Given the description of an element on the screen output the (x, y) to click on. 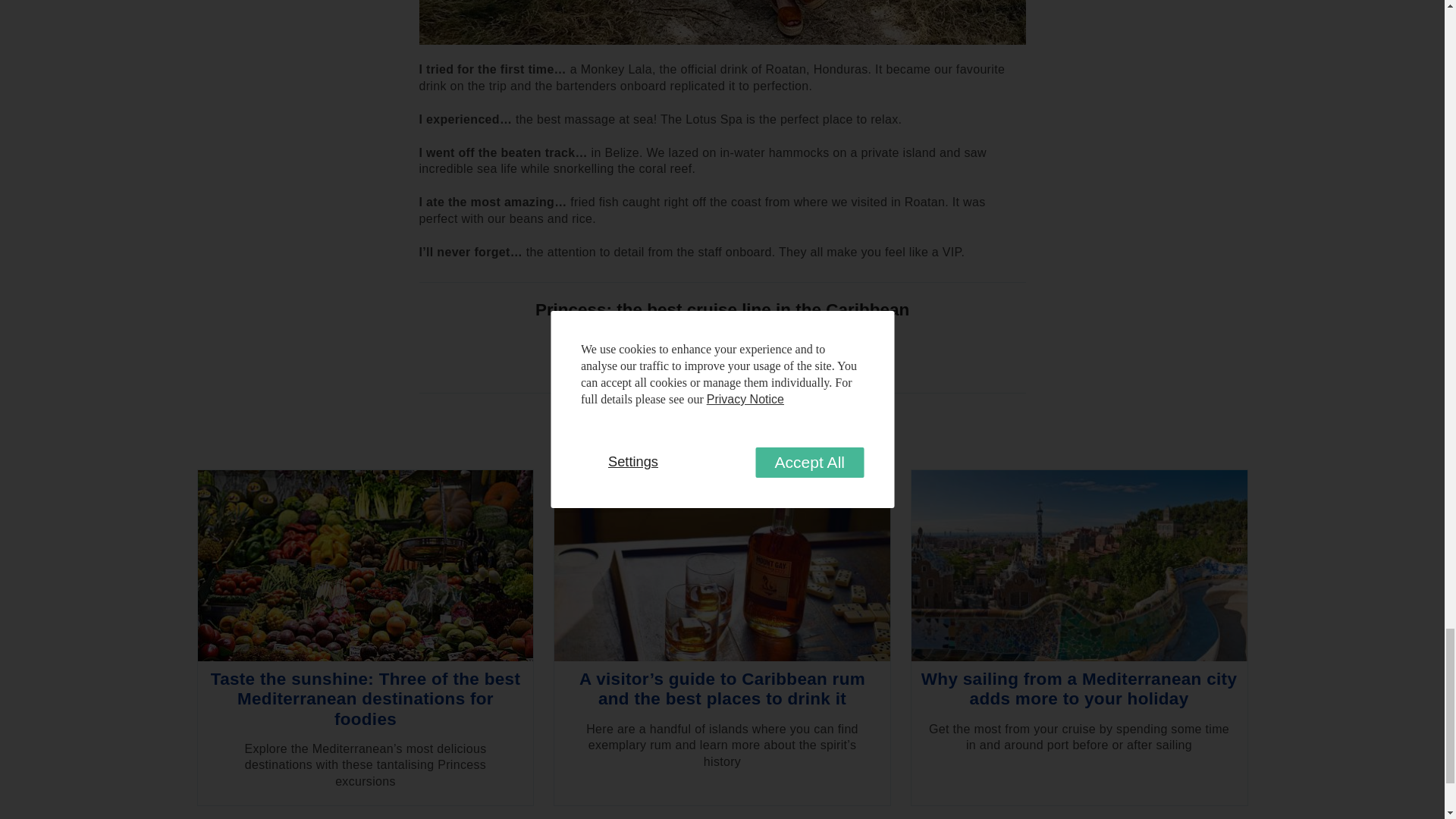
Find out why at princess.com (721, 354)
